Given the description of an element on the screen output the (x, y) to click on. 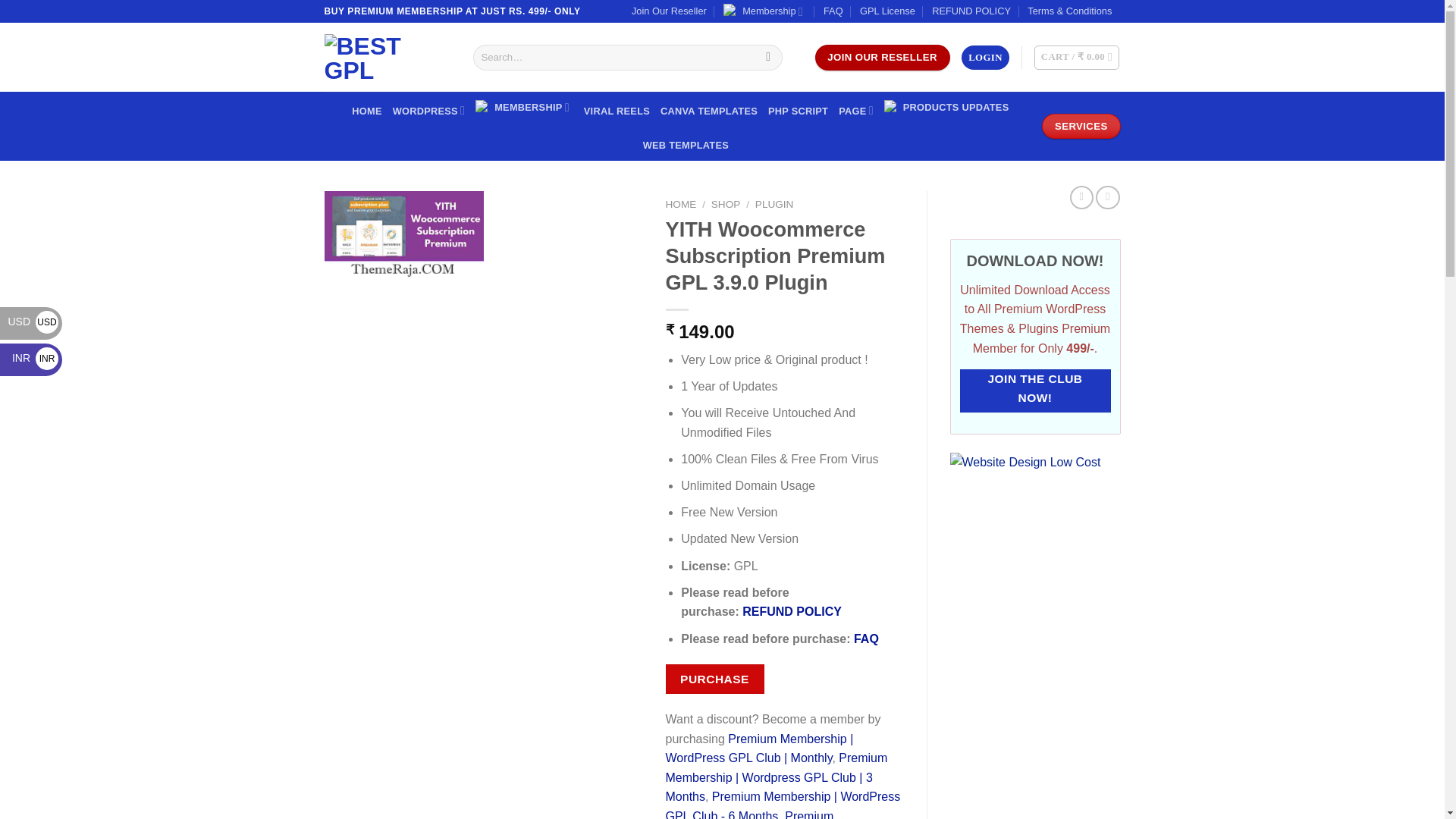
WORDPRESS (429, 110)
HOME (366, 110)
CANVA TEMPLATES (709, 110)
LOGIN (984, 57)
VIRAL REELS (616, 110)
Join Our Reseller (668, 11)
PAGE (855, 110)
Membership (764, 11)
FAQ (833, 11)
MEMBERSHIP (524, 106)
PHP SCRIPT (798, 110)
GPL License (887, 11)
JOIN OUR RESELLER (881, 57)
REFUND POLICY (970, 11)
Search (767, 57)
